Given the description of an element on the screen output the (x, y) to click on. 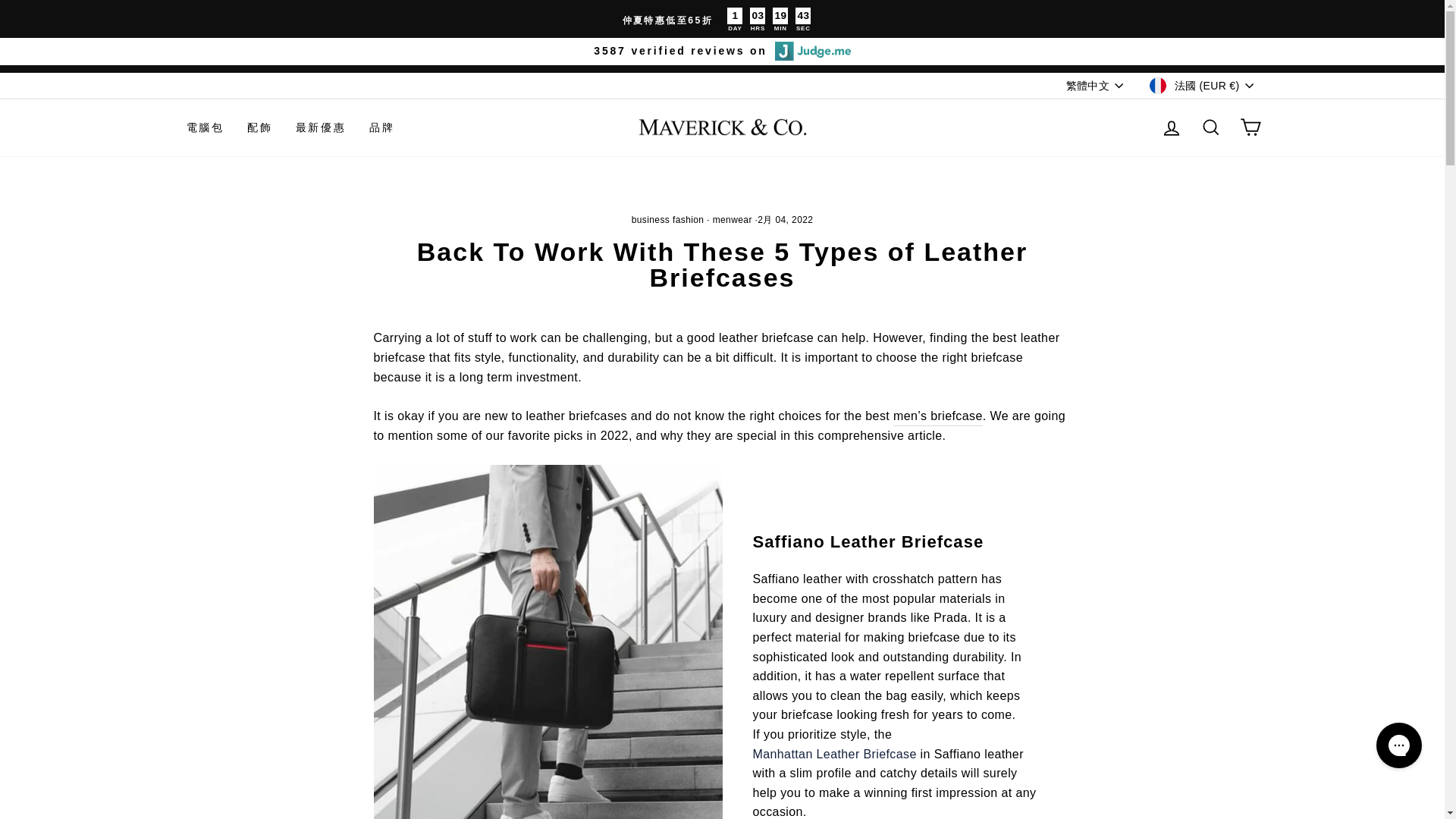
ACCOUNT (1170, 127)
ICON-SEARCH (1210, 127)
Gorgias live chat messenger (1398, 745)
